Given the description of an element on the screen output the (x, y) to click on. 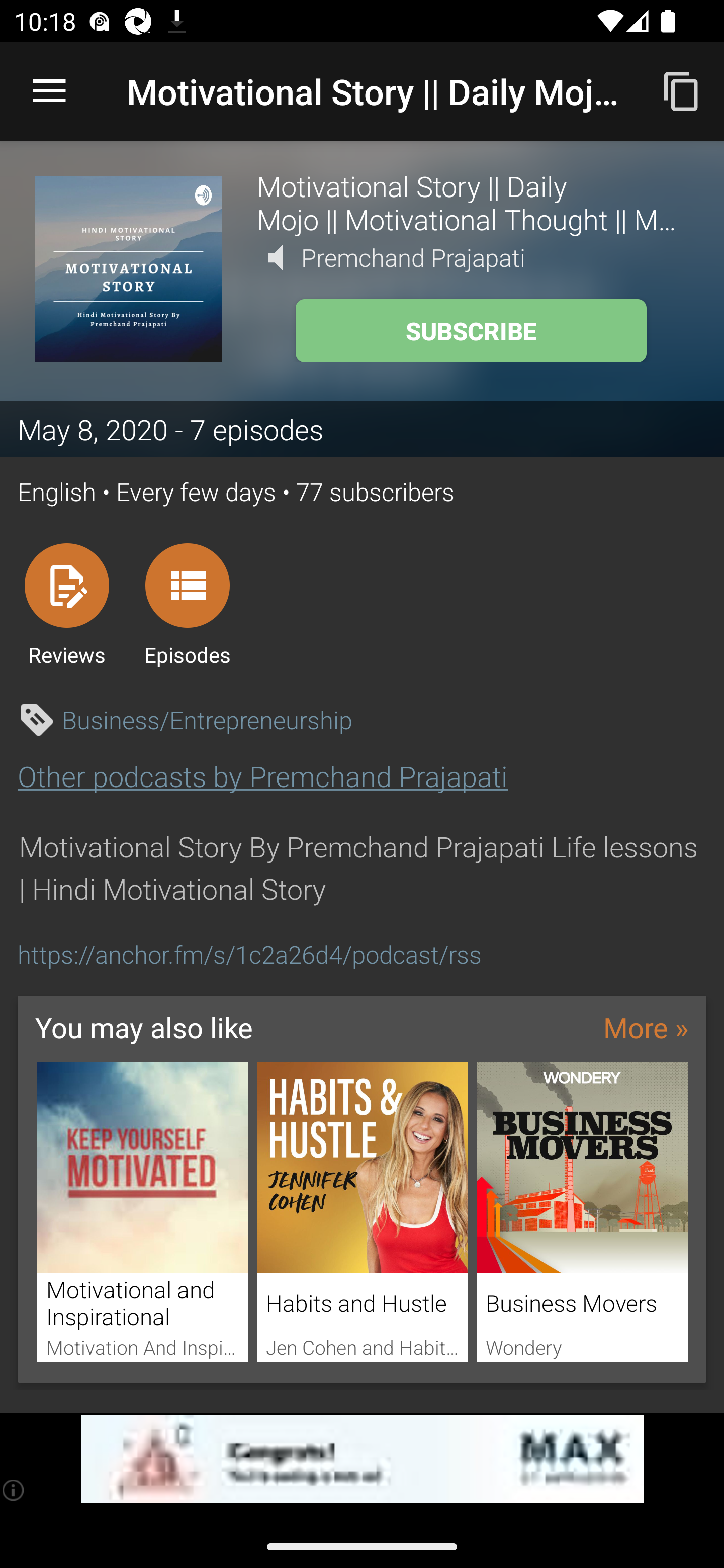
Open navigation sidebar (49, 91)
Copy feed url to clipboard (681, 90)
SUBSCRIBE (470, 330)
Reviews (66, 604)
Episodes (187, 604)
Other podcasts by Premchand Prajapati (262, 775)
More » (645, 1026)
Habits and Hustle Jen Cohen and Habit Nest (362, 1212)
Business Movers Wondery (581, 1212)
app-monetization (362, 1459)
(i) (14, 1489)
